Given the description of an element on the screen output the (x, y) to click on. 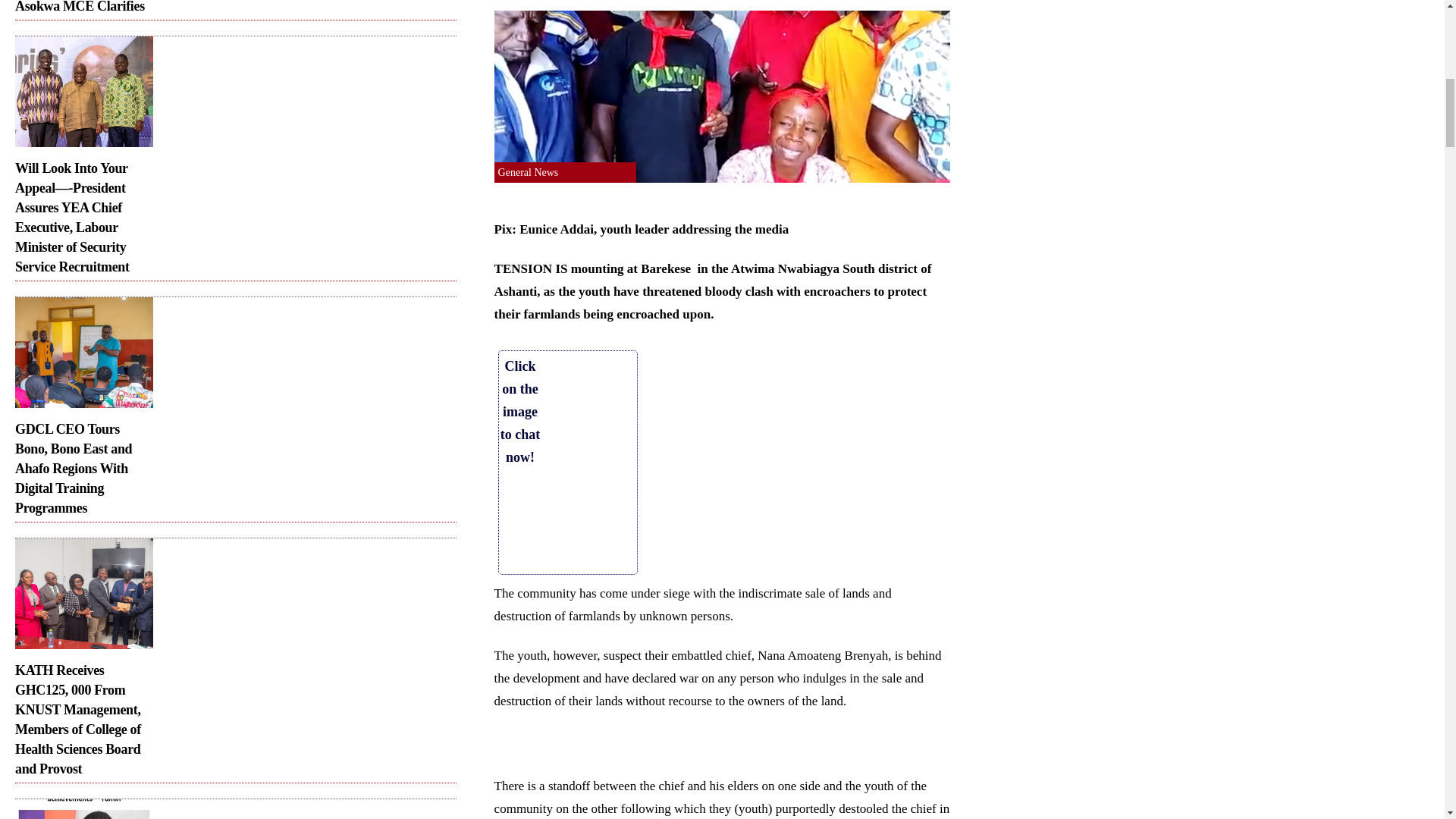
IMG-20240716-WA0232 (83, 593)
IMG-20240716-WA0242 (83, 352)
IMG-20240717-WA0324 (83, 91)
IMG-20240711-WA0373 (83, 809)
